Given the description of an element on the screen output the (x, y) to click on. 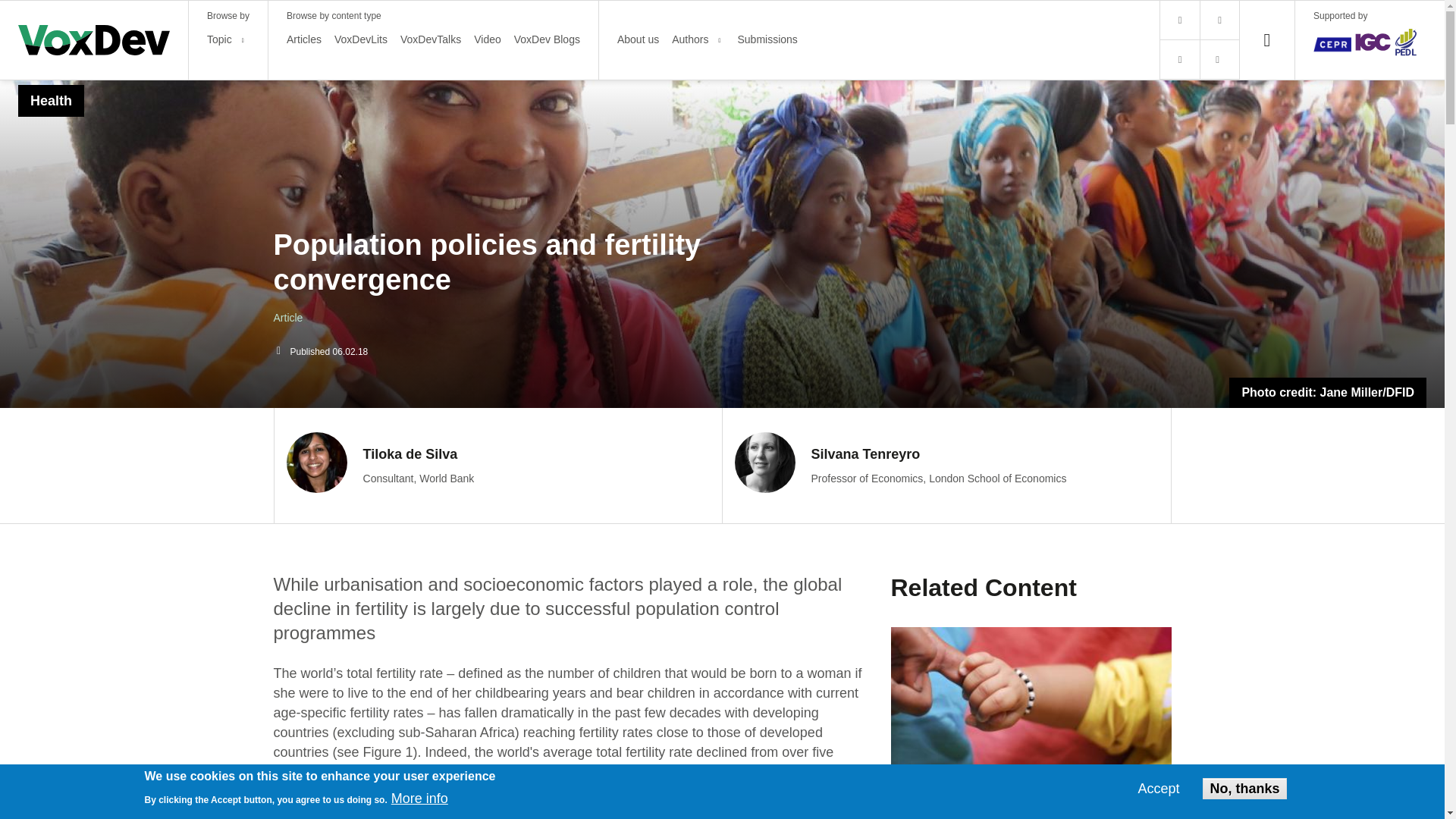
Articles (303, 39)
VoxDev Blogs (546, 39)
Video (487, 39)
Submissions (766, 39)
About us (497, 465)
Authors (638, 39)
VoxDevLits (689, 39)
Health (360, 39)
VoxDevTalks (50, 100)
